Given the description of an element on the screen output the (x, y) to click on. 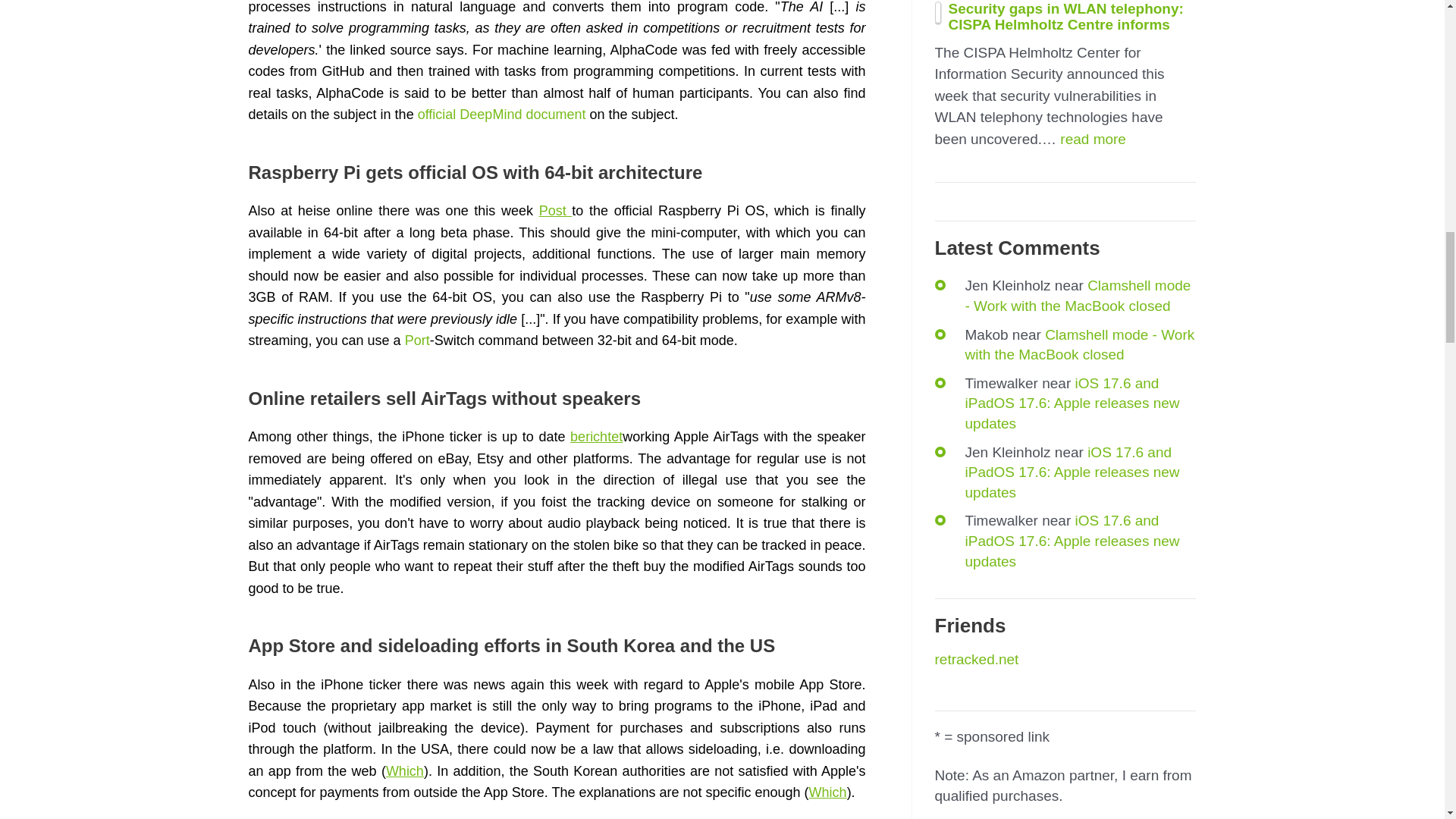
Port (416, 340)
